Given the description of an element on the screen output the (x, y) to click on. 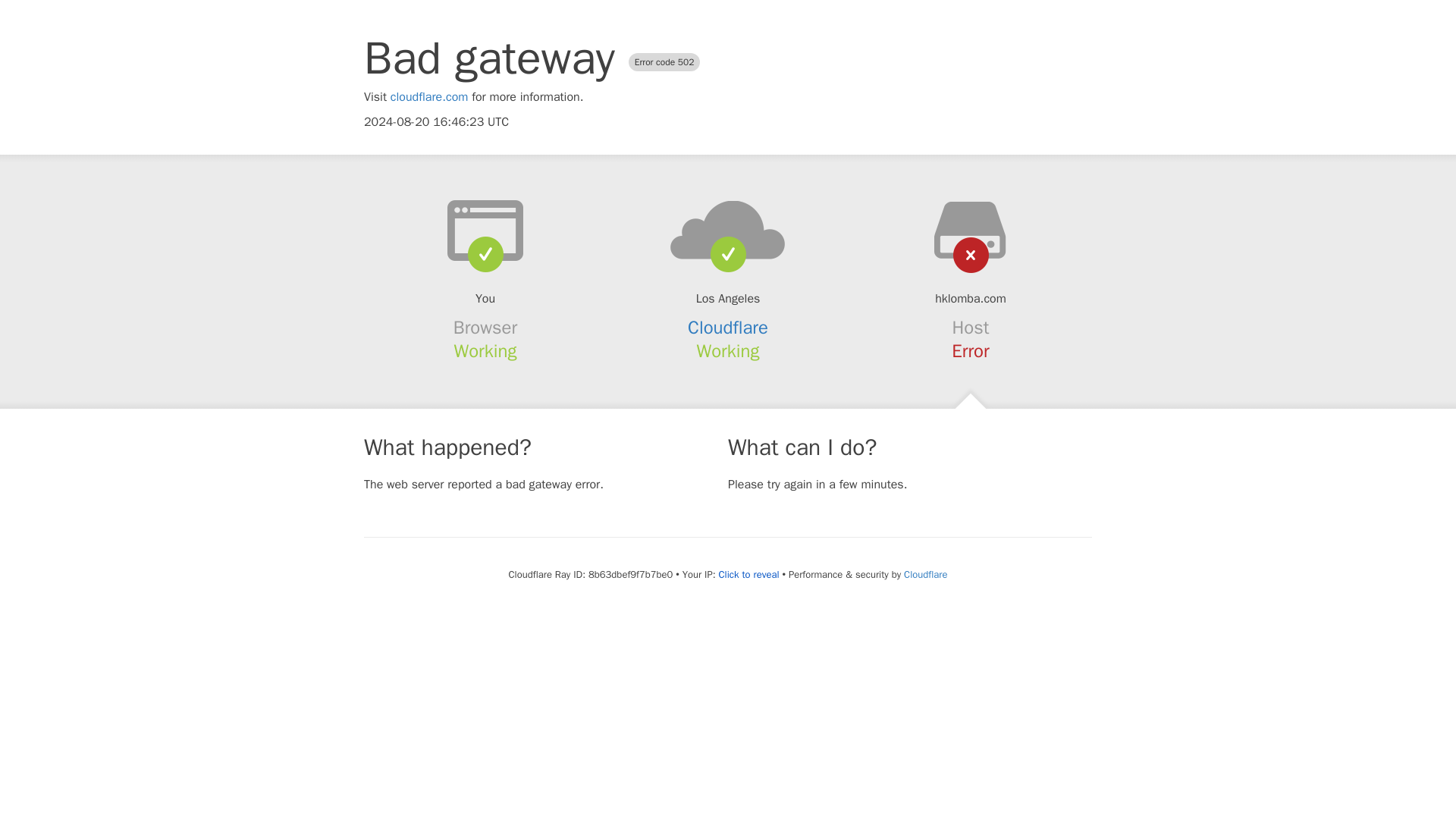
Click to reveal (748, 574)
Cloudflare (727, 327)
cloudflare.com (429, 96)
Cloudflare (925, 574)
